Given the description of an element on the screen output the (x, y) to click on. 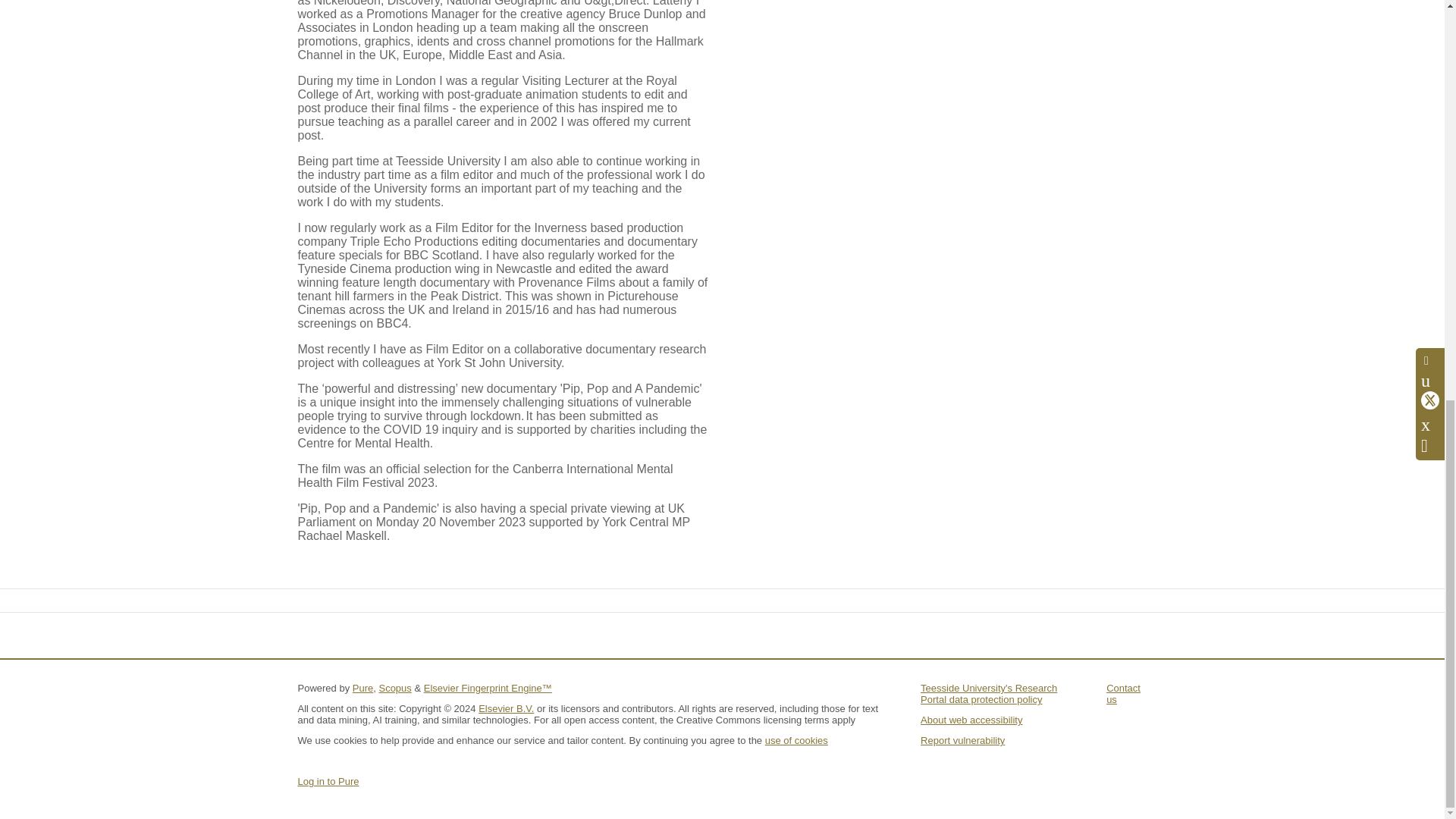
Report vulnerability (962, 740)
Log in to Pure (327, 781)
use of cookies (796, 740)
Contact us (1123, 693)
Scopus (394, 687)
About web accessibility (971, 719)
Teesside University's Research Portal data protection policy (988, 693)
Pure (362, 687)
Elsevier B.V. (506, 708)
